Given the description of an element on the screen output the (x, y) to click on. 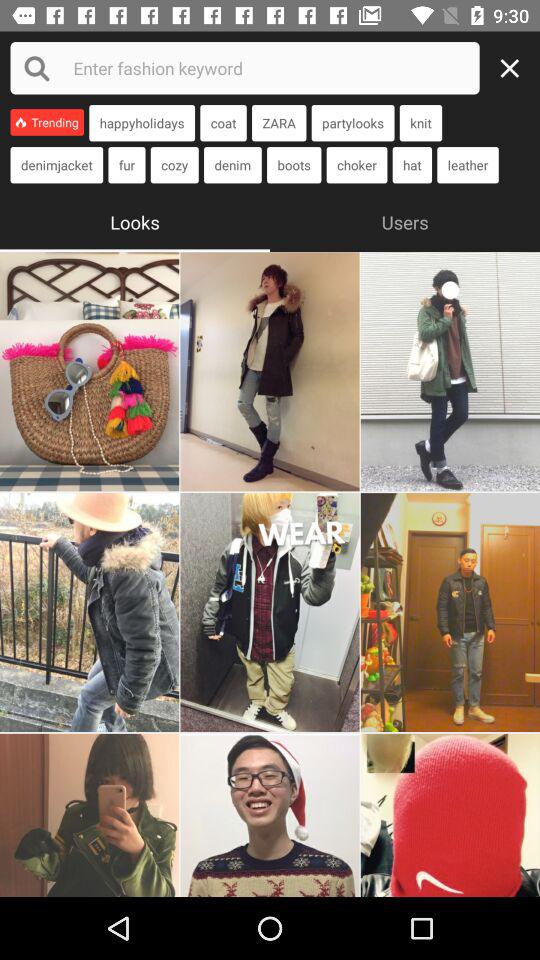
cancel (515, 68)
